Given the description of an element on the screen output the (x, y) to click on. 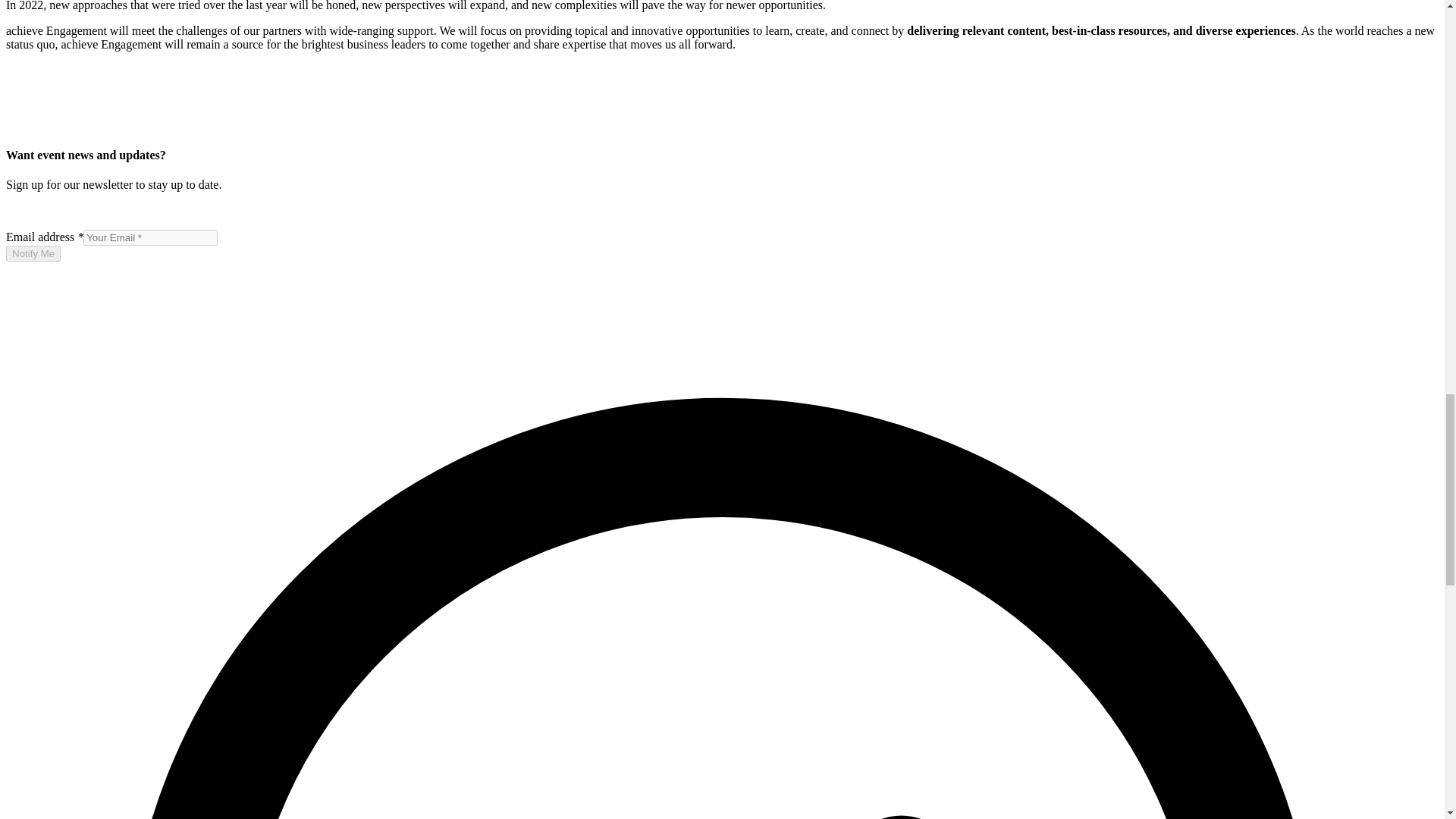
Notify Me (33, 253)
